Given the description of an element on the screen output the (x, y) to click on. 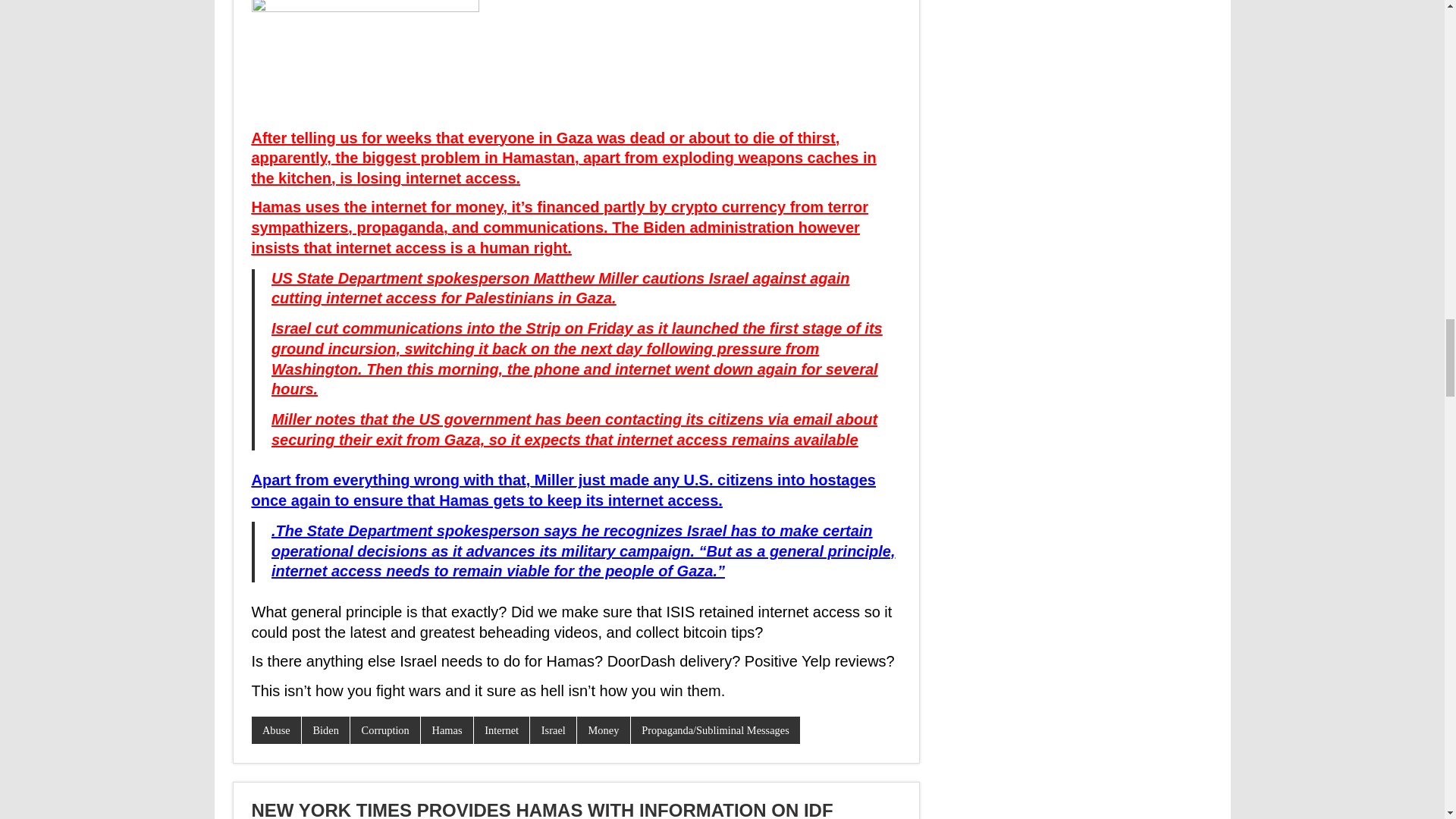
Internet (501, 729)
Biden (325, 729)
Abuse (276, 729)
Corruption (385, 729)
losing internet access (435, 177)
Hamas (446, 729)
Israel (552, 729)
Money (603, 729)
